Given the description of an element on the screen output the (x, y) to click on. 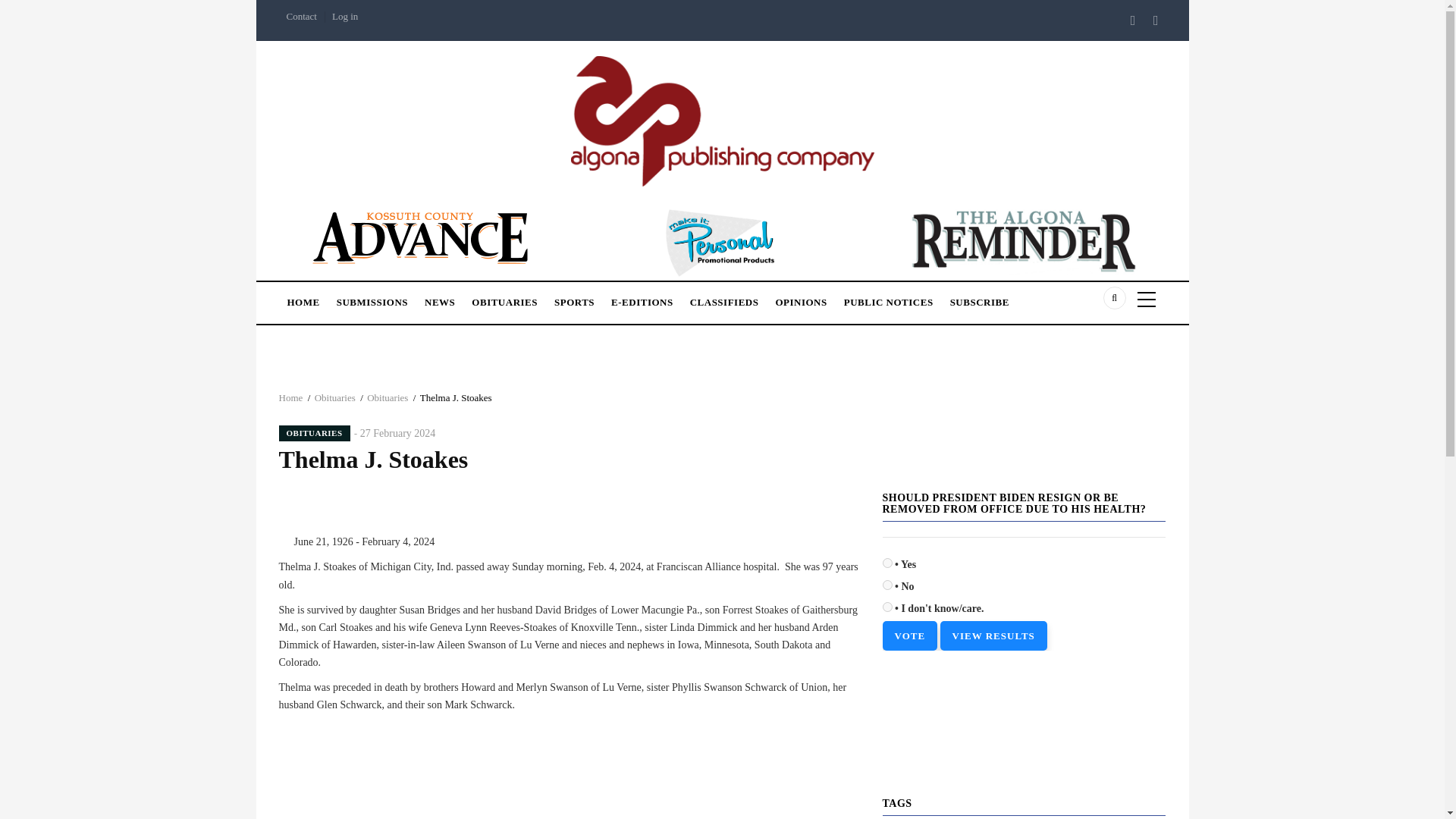
OBITUARIES (504, 297)
OBITUARIES (314, 433)
175 (887, 606)
173 (887, 562)
Obituaries (386, 397)
SUBMISSIONS (372, 297)
Log in (344, 16)
E-EDITIONS (641, 297)
HOME (304, 297)
174 (887, 584)
Obituaries (334, 397)
Share to Reddit (582, 742)
Share to Pinterest (561, 742)
Contact (301, 16)
